Given the description of an element on the screen output the (x, y) to click on. 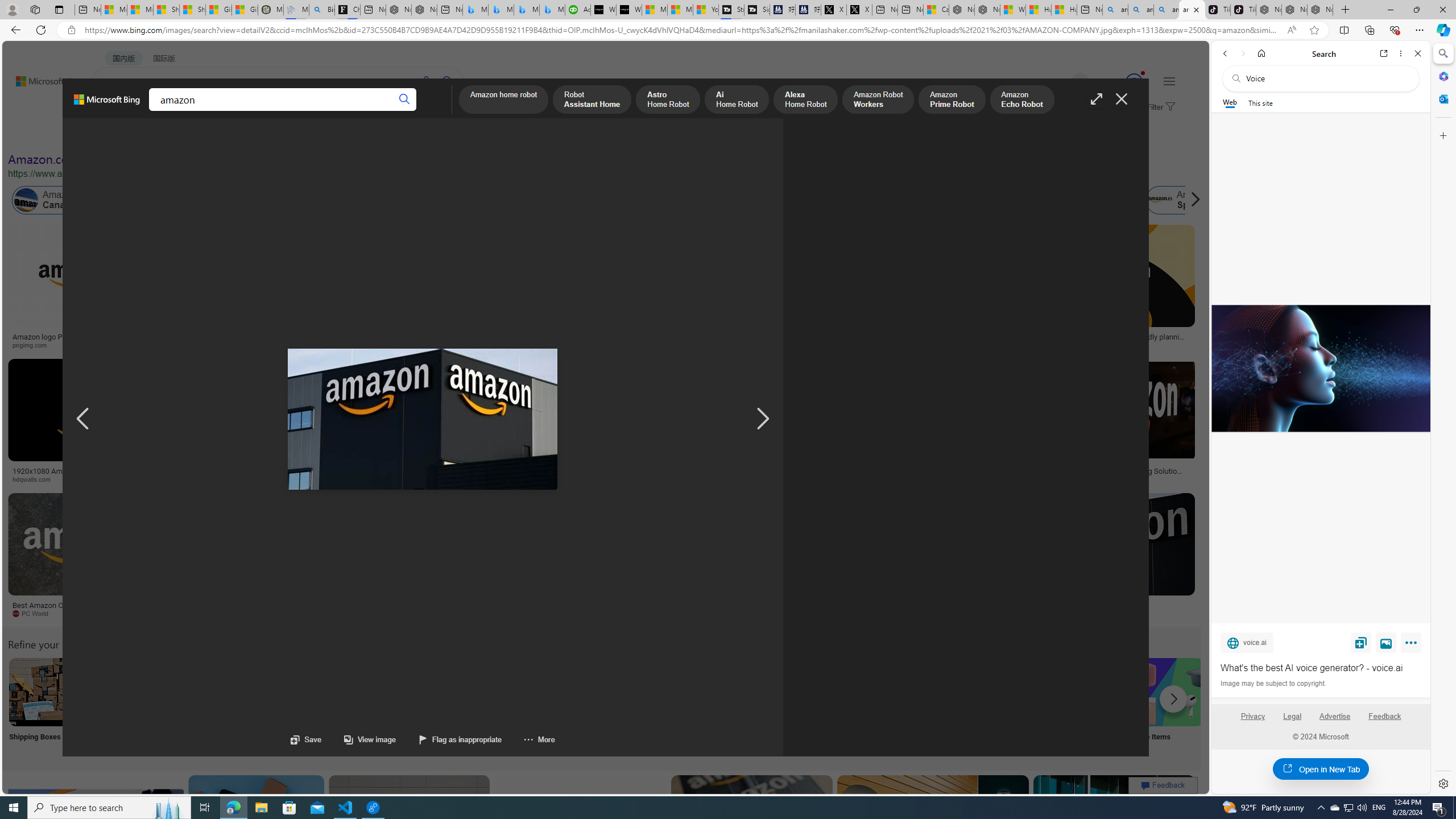
Clip Art (192, 706)
vecteezy.com (908, 479)
New Tab (1346, 9)
Alexa Smart Home Devices (673, 332)
Close (1417, 53)
3d illustration of amazon logo 18779928 PNG (939, 474)
mytotalretail.com (224, 344)
Amazon Forest (1023, 199)
Flag as inappropriate (449, 739)
Online Shopping Search (118, 706)
Amazon down? Current status and problems | Downdetector (937, 340)
